Given the description of an element on the screen output the (x, y) to click on. 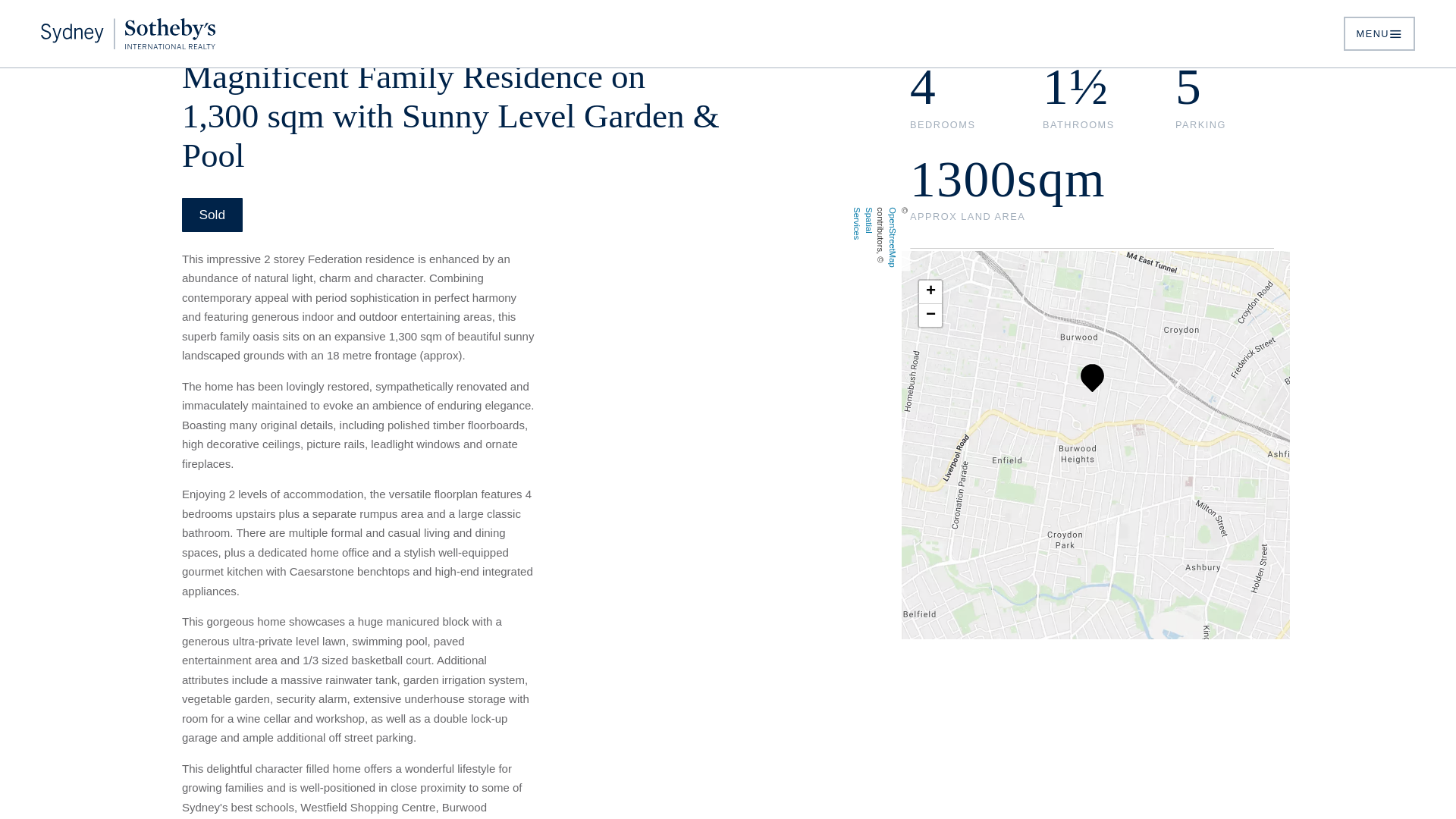
Zoom out (930, 314)
Zoom in (930, 291)
